Given the description of an element on the screen output the (x, y) to click on. 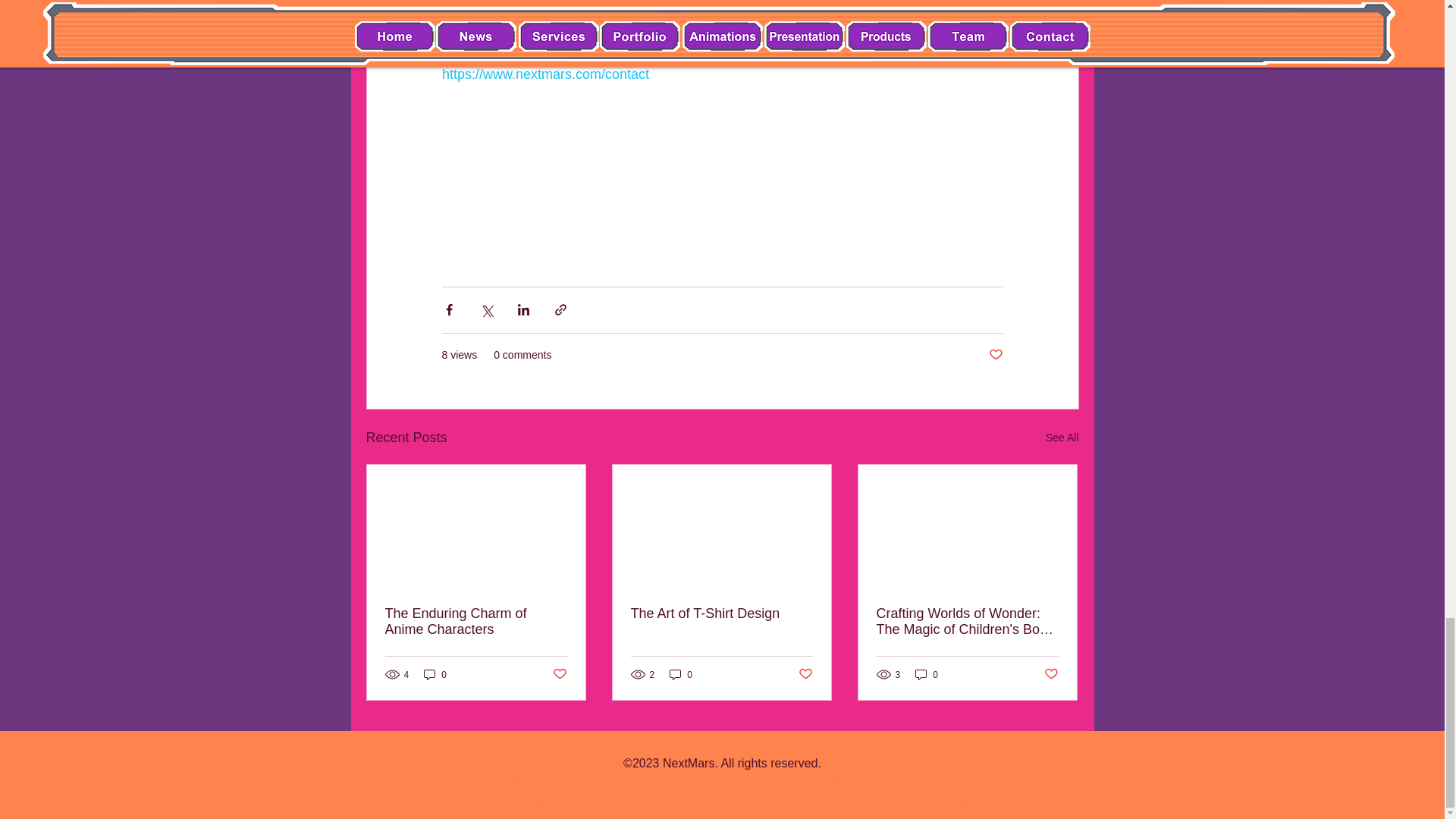
0 (435, 674)
Game Art Outsourcing (507, 781)
See All (1061, 437)
0 (681, 674)
The Enduring Charm of Anime Characters (476, 622)
Post not marked as liked (1050, 674)
Post not marked as liked (558, 674)
Post not marked as liked (995, 355)
Post not marked as liked (804, 674)
